Given the description of an element on the screen output the (x, y) to click on. 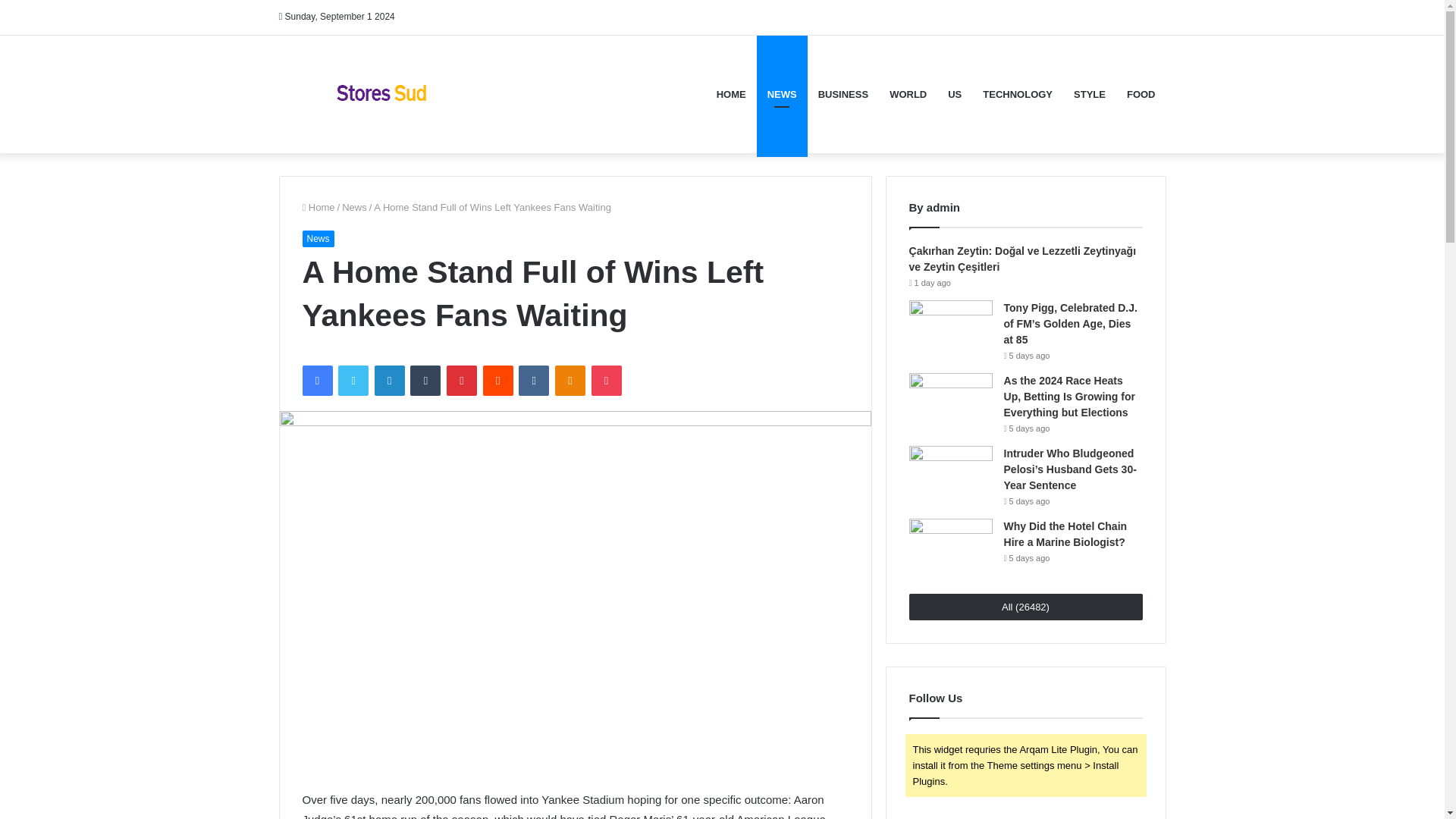
Twitter (352, 380)
Tumblr (425, 380)
News (317, 238)
Pinterest (461, 380)
VKontakte (533, 380)
VKontakte (533, 380)
Pinterest (461, 380)
LinkedIn (389, 380)
LinkedIn (389, 380)
Reddit (498, 380)
